Given the description of an element on the screen output the (x, y) to click on. 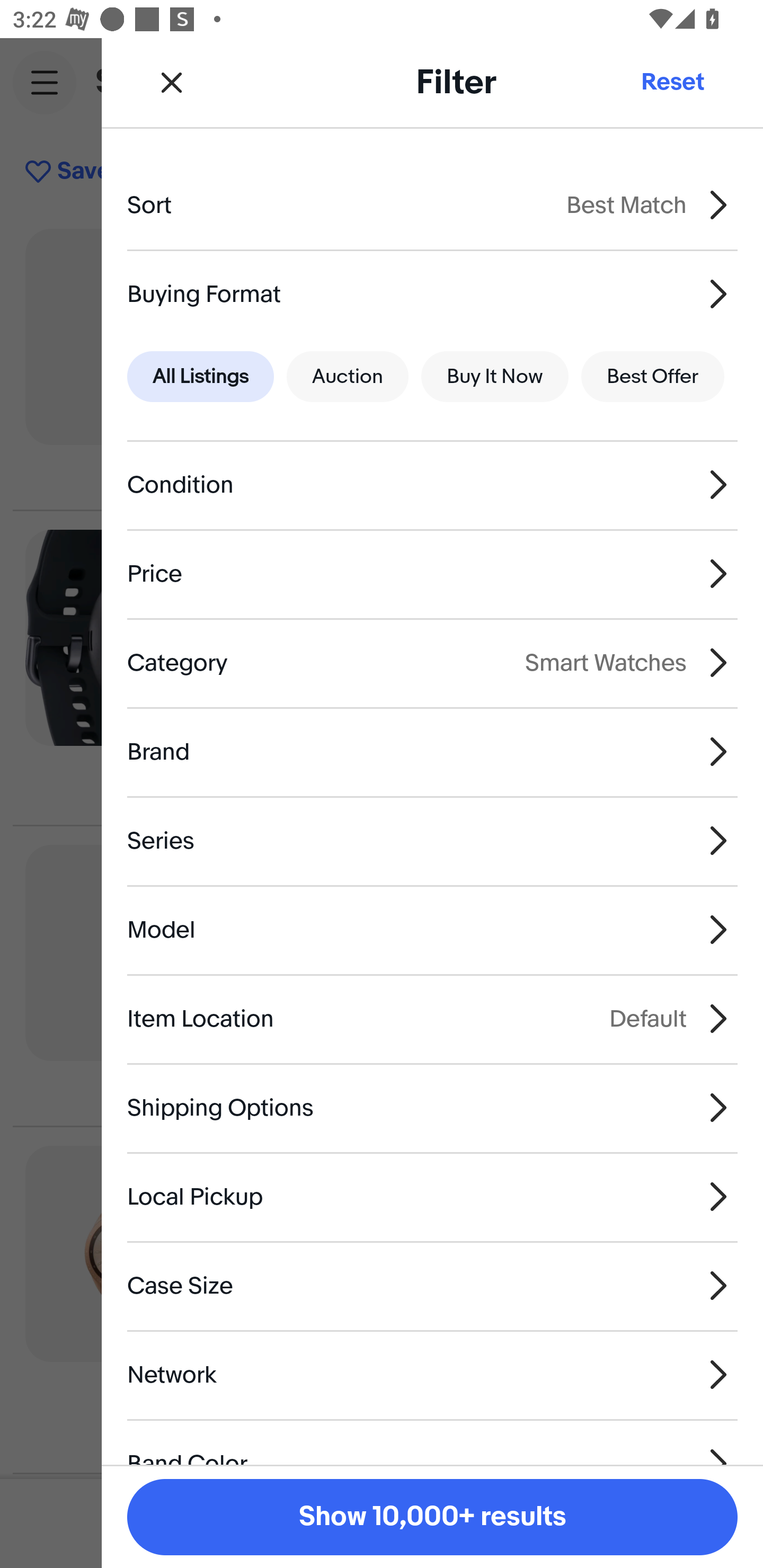
Close Filter (171, 81)
Reset (672, 81)
Buying Format (432, 293)
All Listings (200, 376)
Auction (347, 376)
Buy It Now (494, 376)
Best Offer (652, 376)
Condition (432, 484)
Price (432, 573)
Category Smart Watches (432, 662)
Brand (432, 751)
Series (432, 840)
Model (432, 929)
Item Location Default (432, 1018)
Shipping Options (432, 1107)
Local Pickup (432, 1196)
Case Size (432, 1285)
Network (432, 1374)
Show 10,000+ results (432, 1516)
